Given the description of an element on the screen output the (x, y) to click on. 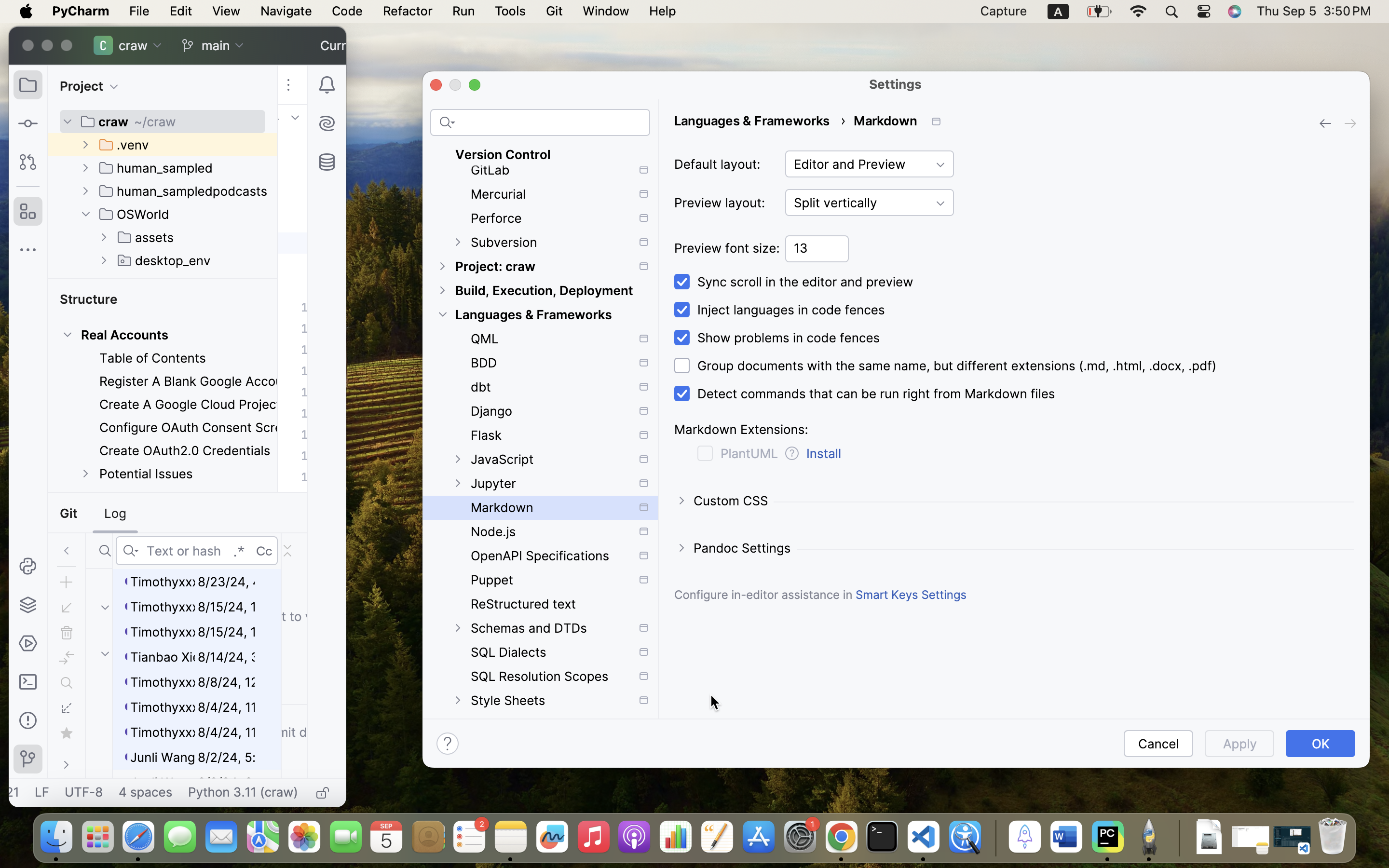
Custom CSS Element type: AXStaticText (722, 500)
Preview font size: Element type: AXStaticText (726, 248)
Editor and Preview Element type: AXPopUpButton (869, 163)
Pandoc Settings Element type: AXStaticText (733, 547)
0.4285714328289032 Element type: AXDockItem (993, 837)
